Given the description of an element on the screen output the (x, y) to click on. 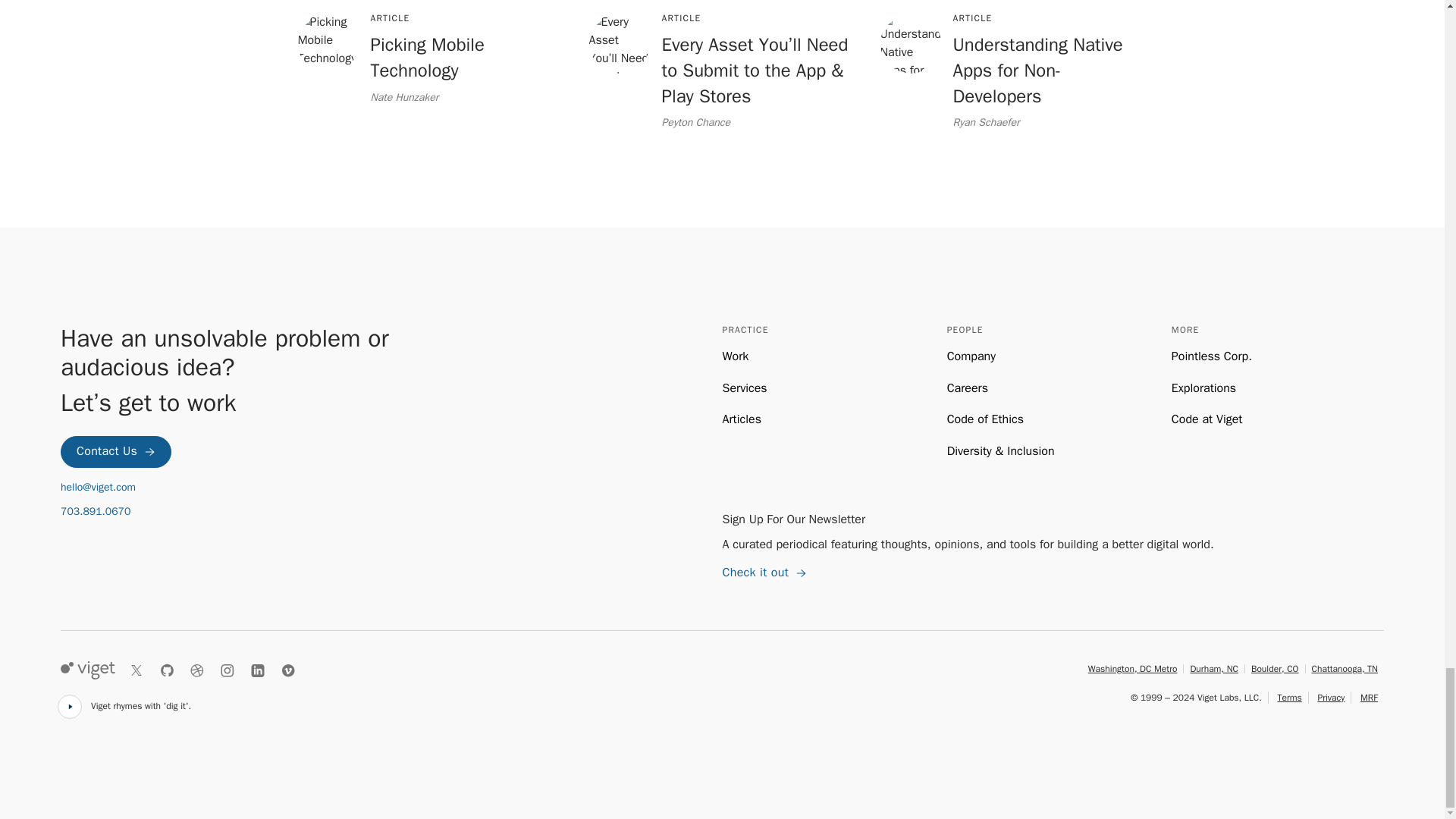
Work (735, 355)
703.891.0670 (430, 58)
Articles (281, 511)
Services (741, 418)
Contact Us (744, 387)
